Given the description of an element on the screen output the (x, y) to click on. 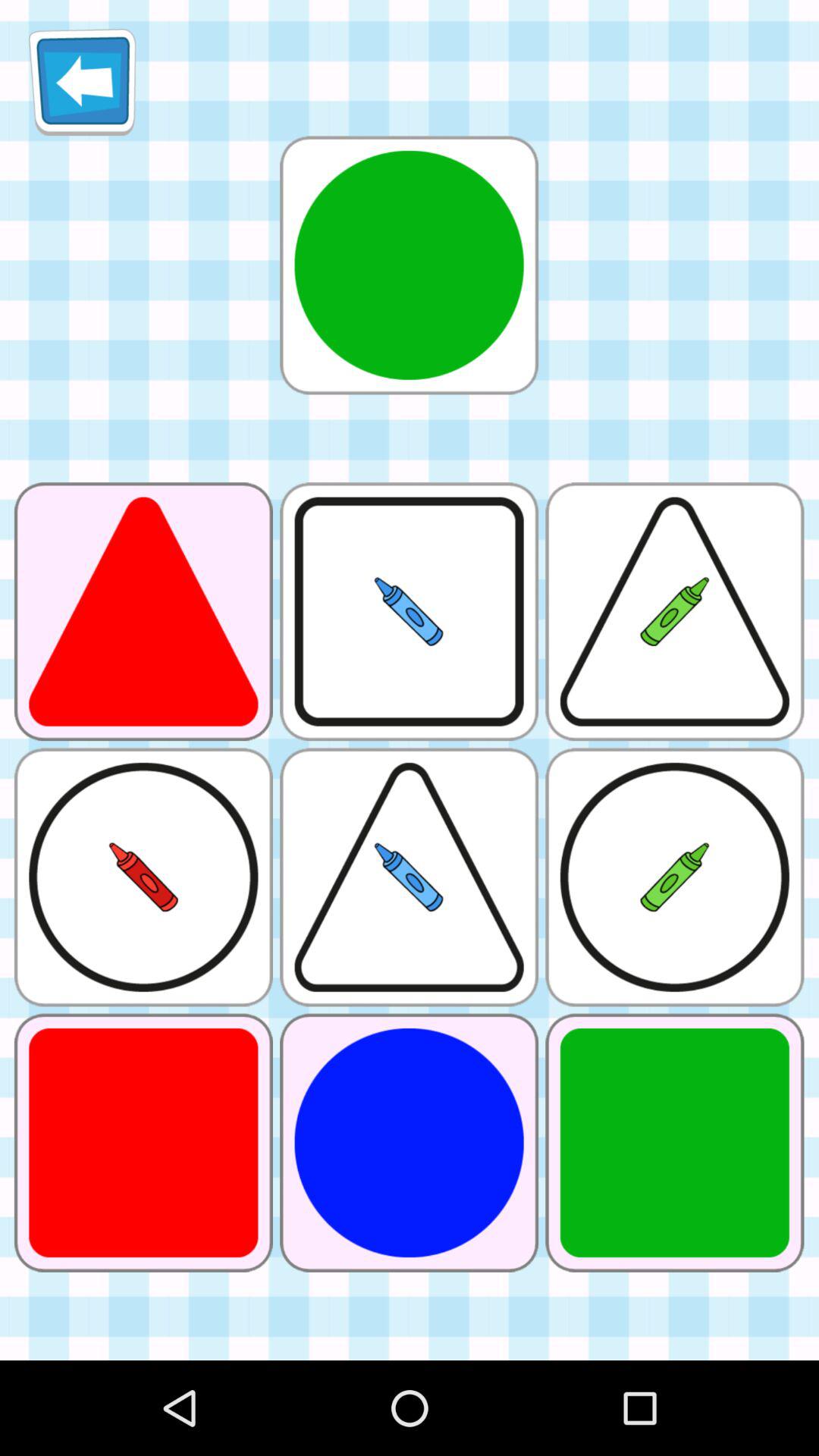
select form (409, 265)
